Given the description of an element on the screen output the (x, y) to click on. 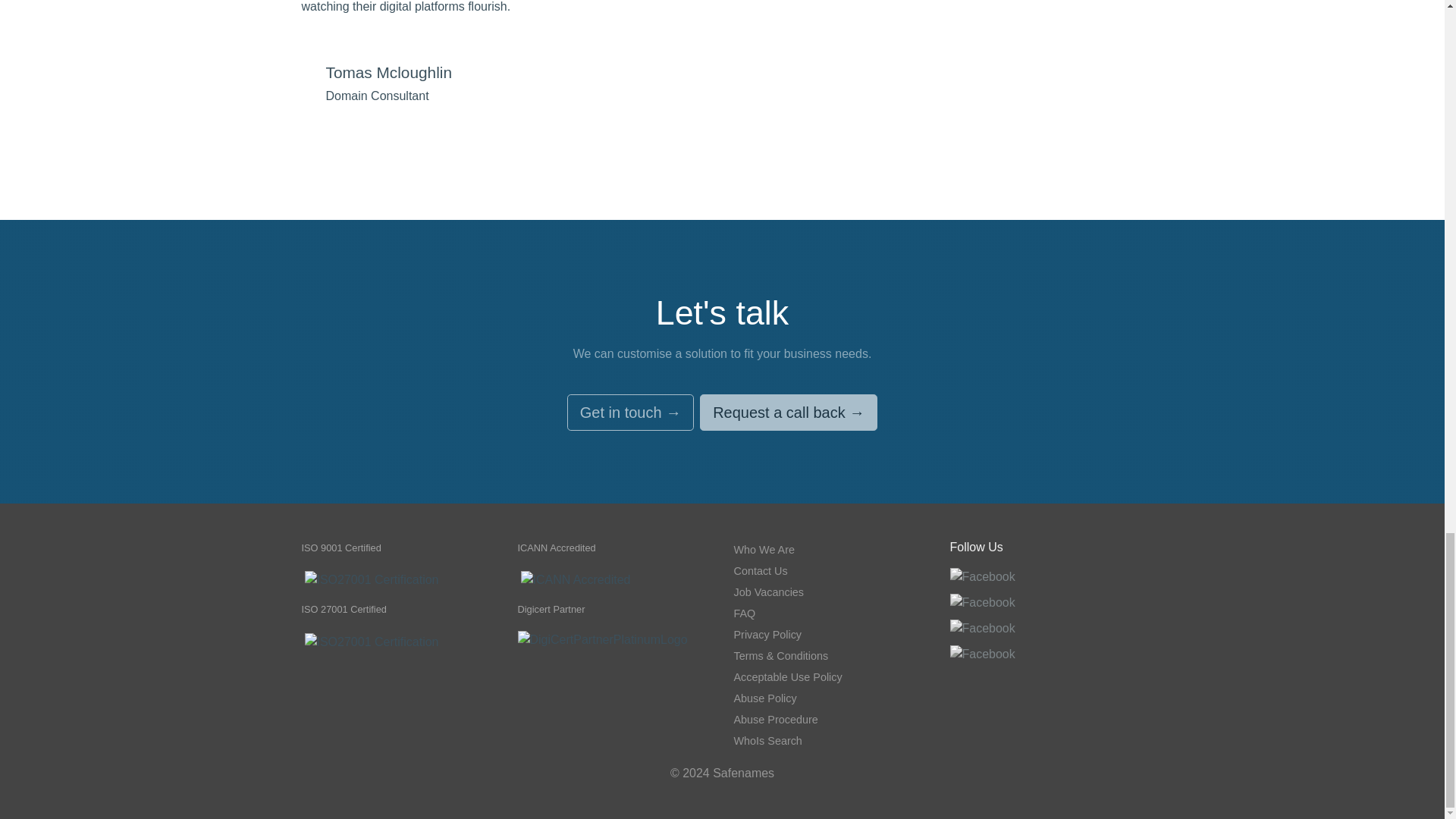
DigiCertPartnerPlatinumLogo (601, 639)
